Given the description of an element on the screen output the (x, y) to click on. 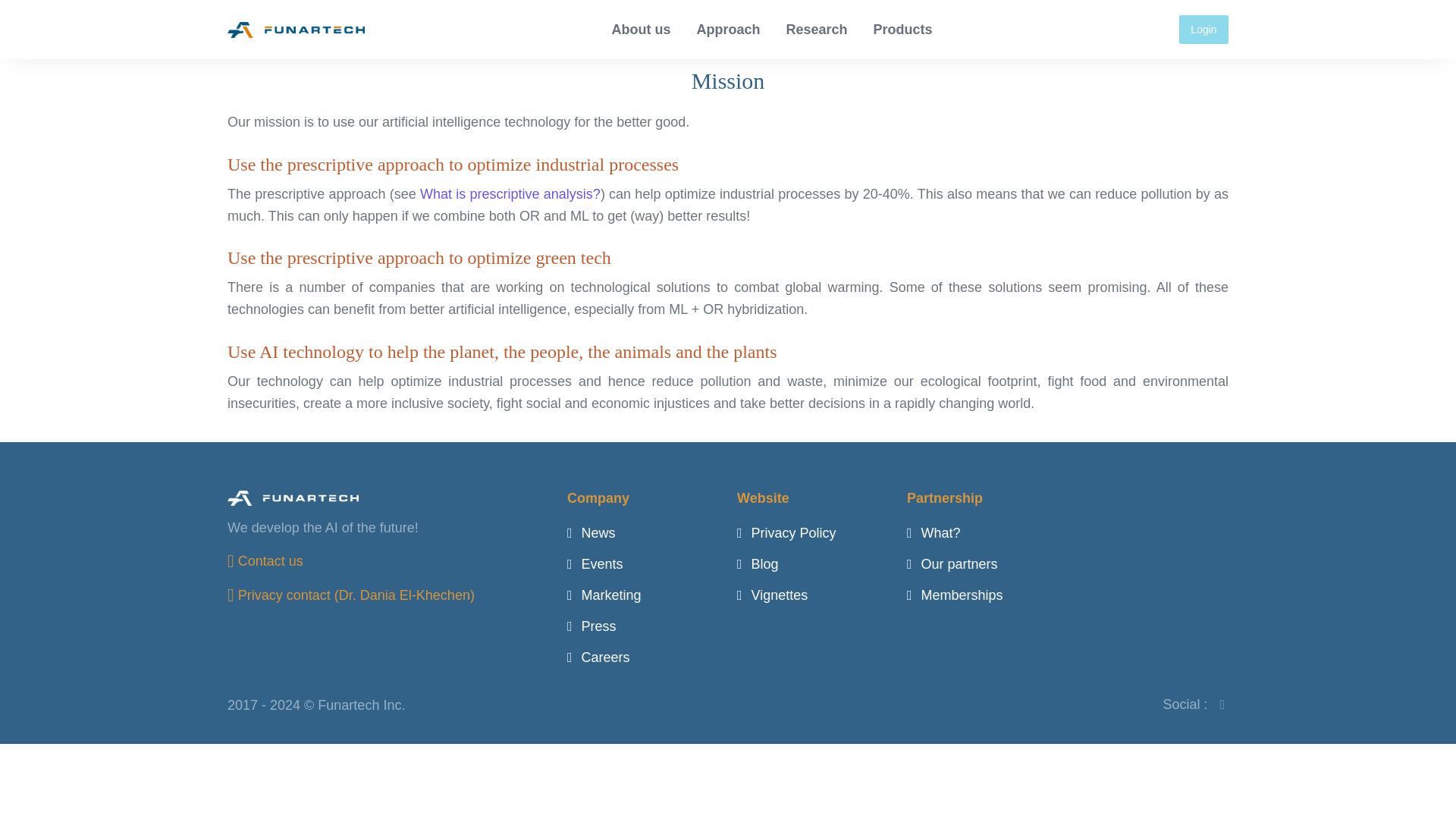
Login (1203, 29)
Approach (727, 29)
Our partners (952, 563)
Privacy Policy (785, 532)
Marketing (604, 595)
Research (817, 29)
Products (903, 29)
Vignettes (772, 595)
What is prescriptive analysis? (509, 193)
News (591, 532)
Events (595, 563)
Careers (598, 657)
Contact us (264, 560)
About us (641, 29)
Press (591, 626)
